Given the description of an element on the screen output the (x, y) to click on. 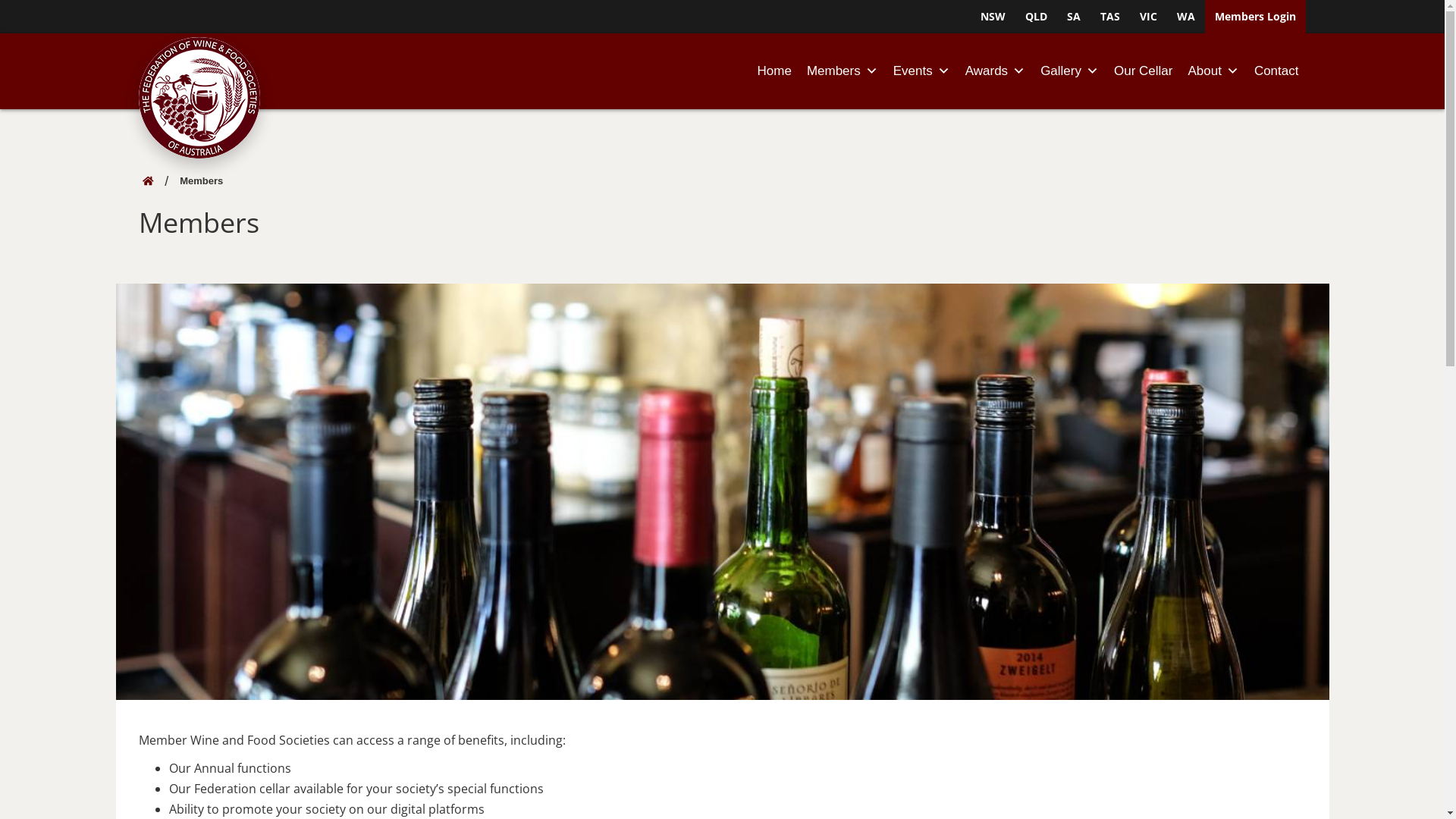
SA Element type: text (1073, 16)
About Element type: text (1212, 71)
WA Element type: text (1185, 16)
<i class='fas fa-home'></i> Element type: hover (147, 180)
Members Element type: text (842, 71)
Awards Element type: text (994, 71)
TAS Element type: text (1109, 16)
Home Element type: text (774, 71)
Events Element type: text (921, 71)
Our Cellar Element type: text (1142, 71)
QLD Element type: text (1036, 16)
Members Login Element type: text (1254, 16)
Gallery Element type: text (1069, 71)
Contact Element type: text (1276, 71)
NSW Element type: text (992, 16)
VIC Element type: text (1148, 16)
